Given the description of an element on the screen output the (x, y) to click on. 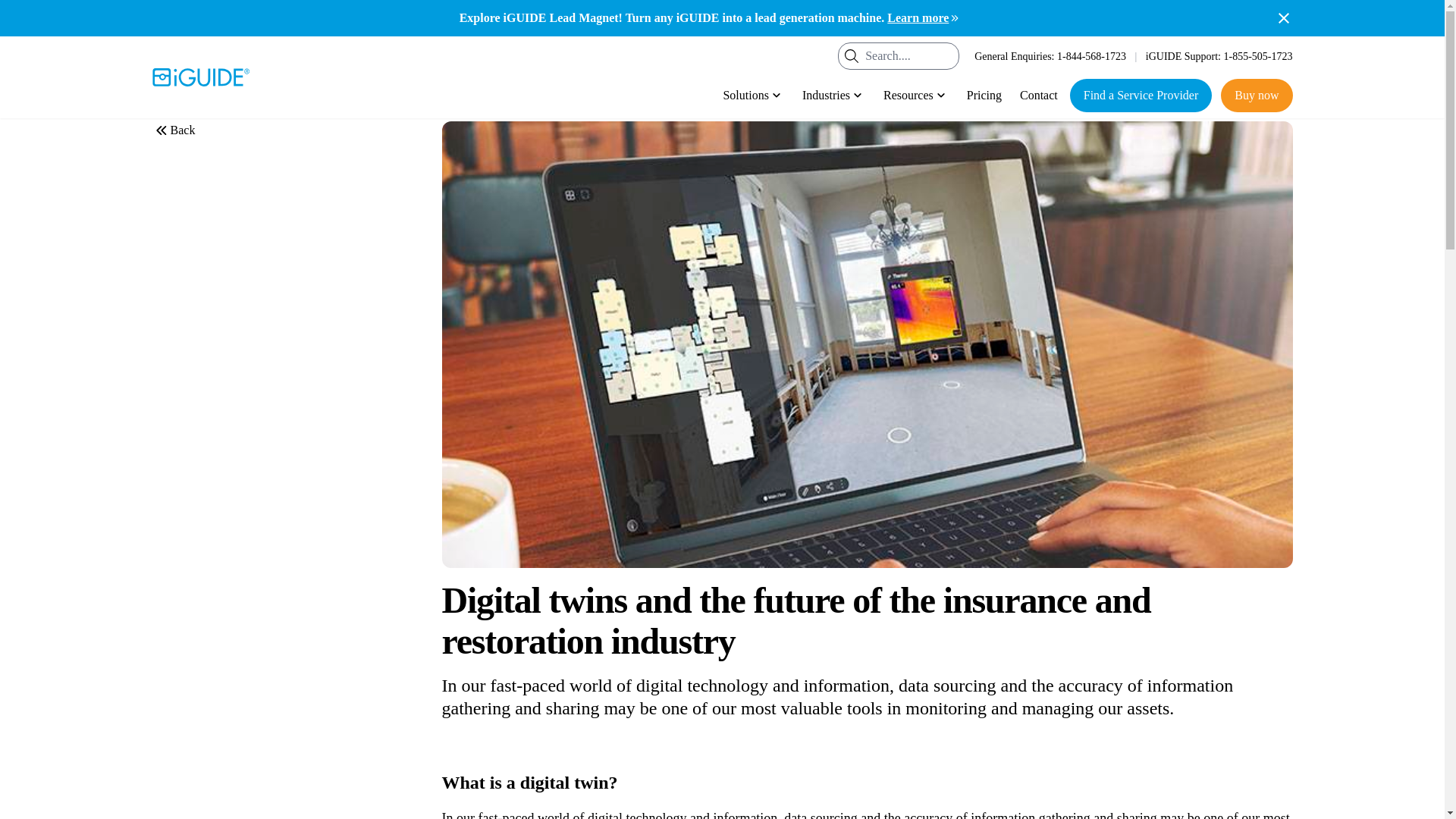
Learn more (923, 18)
Contact (1038, 95)
Pricing (983, 95)
Solutions (752, 95)
Buy now (1256, 95)
Find a Service Provider (1141, 95)
1-844-568-1723 (1091, 55)
Back (173, 130)
Resources (916, 95)
Search (851, 56)
Industries (833, 95)
1-855-505-1723 (1258, 55)
Search (851, 56)
